Given the description of an element on the screen output the (x, y) to click on. 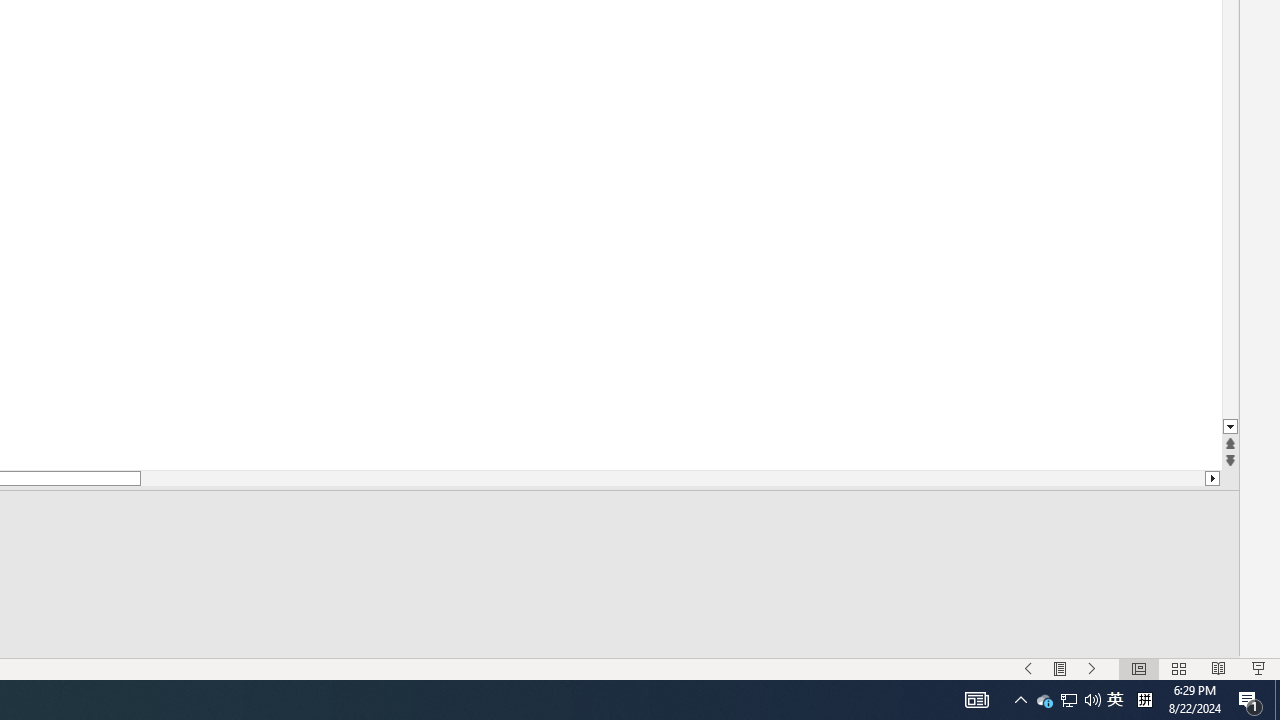
Slide Show Next On (1092, 668)
Slide Show Previous On (1028, 668)
Menu On (1060, 668)
